Given the description of an element on the screen output the (x, y) to click on. 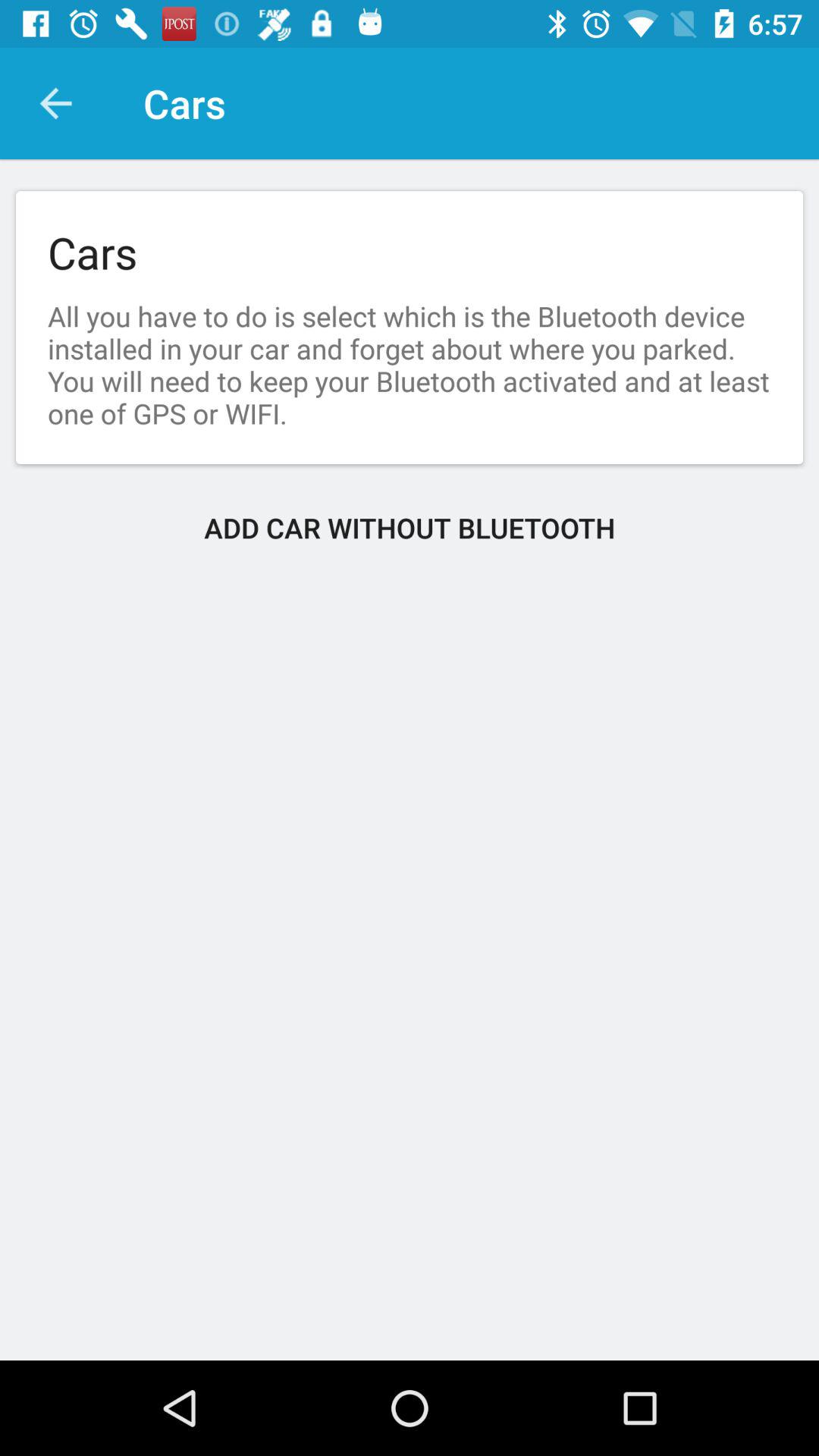
tap the icon at the center (409, 527)
